Given the description of an element on the screen output the (x, y) to click on. 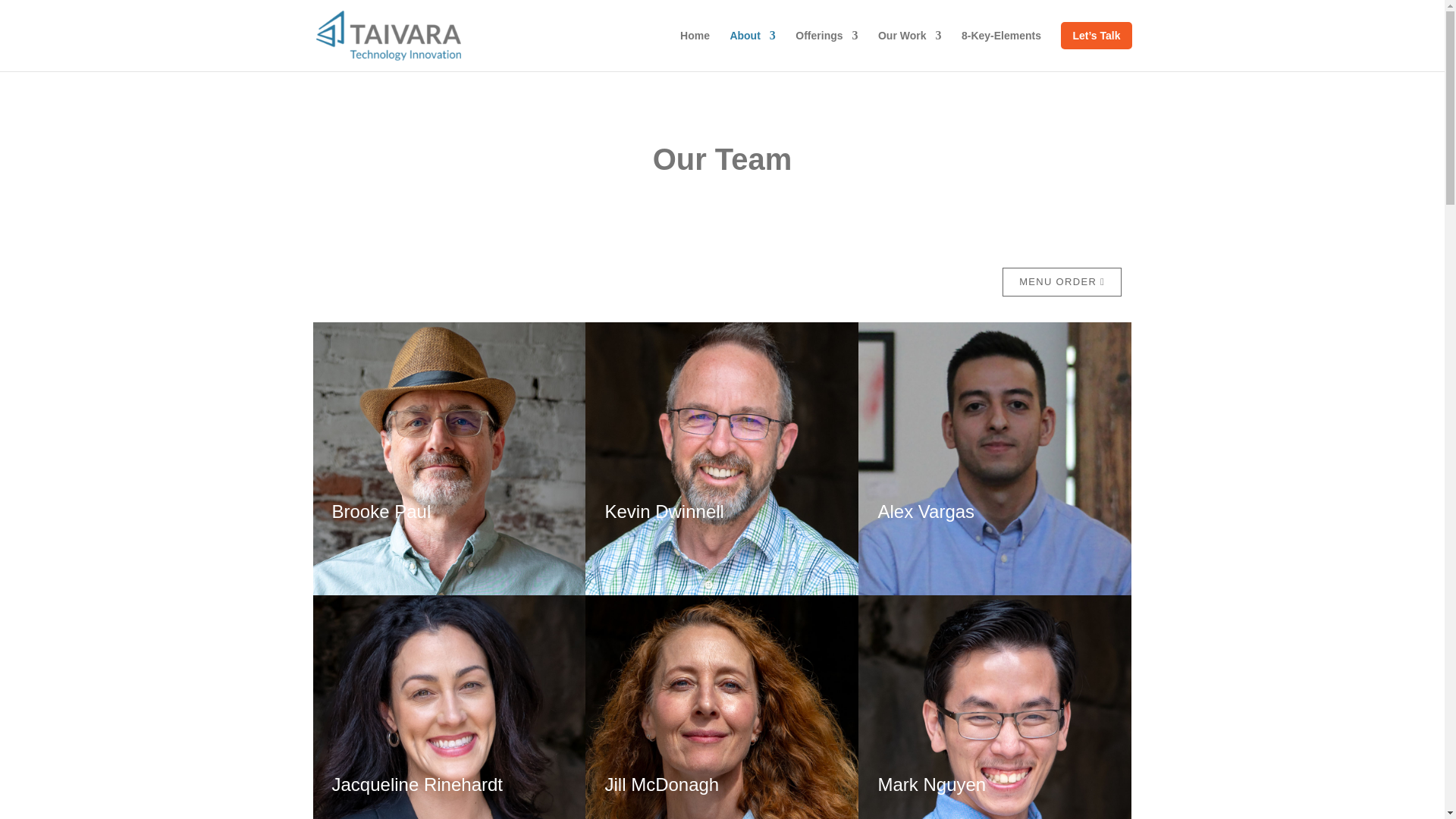
Jill McDonagh (661, 783)
8-Key-Elements (1000, 50)
Alex Vargas (925, 511)
Brooke Paul (380, 511)
Offerings (825, 50)
Mark Nguyen (931, 783)
Our Work (909, 50)
About (751, 50)
Jacqueline Rinehardt (416, 783)
Kevin Dwinnell (663, 511)
